Given the description of an element on the screen output the (x, y) to click on. 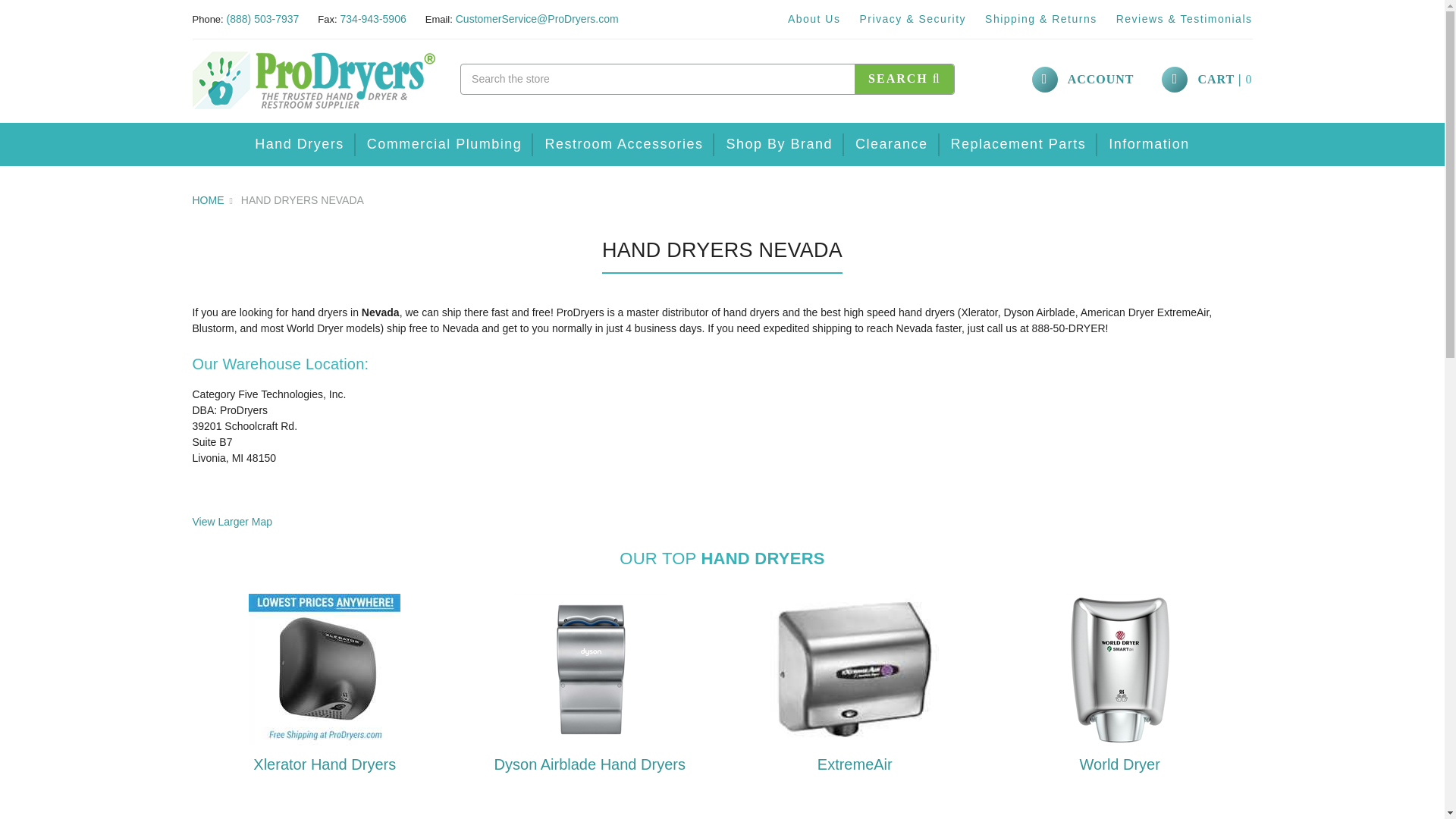
About Us (814, 19)
Hand Dryers (299, 144)
ProDryers.com (313, 78)
SEARCH (904, 78)
ACCOUNT (1082, 79)
